Given the description of an element on the screen output the (x, y) to click on. 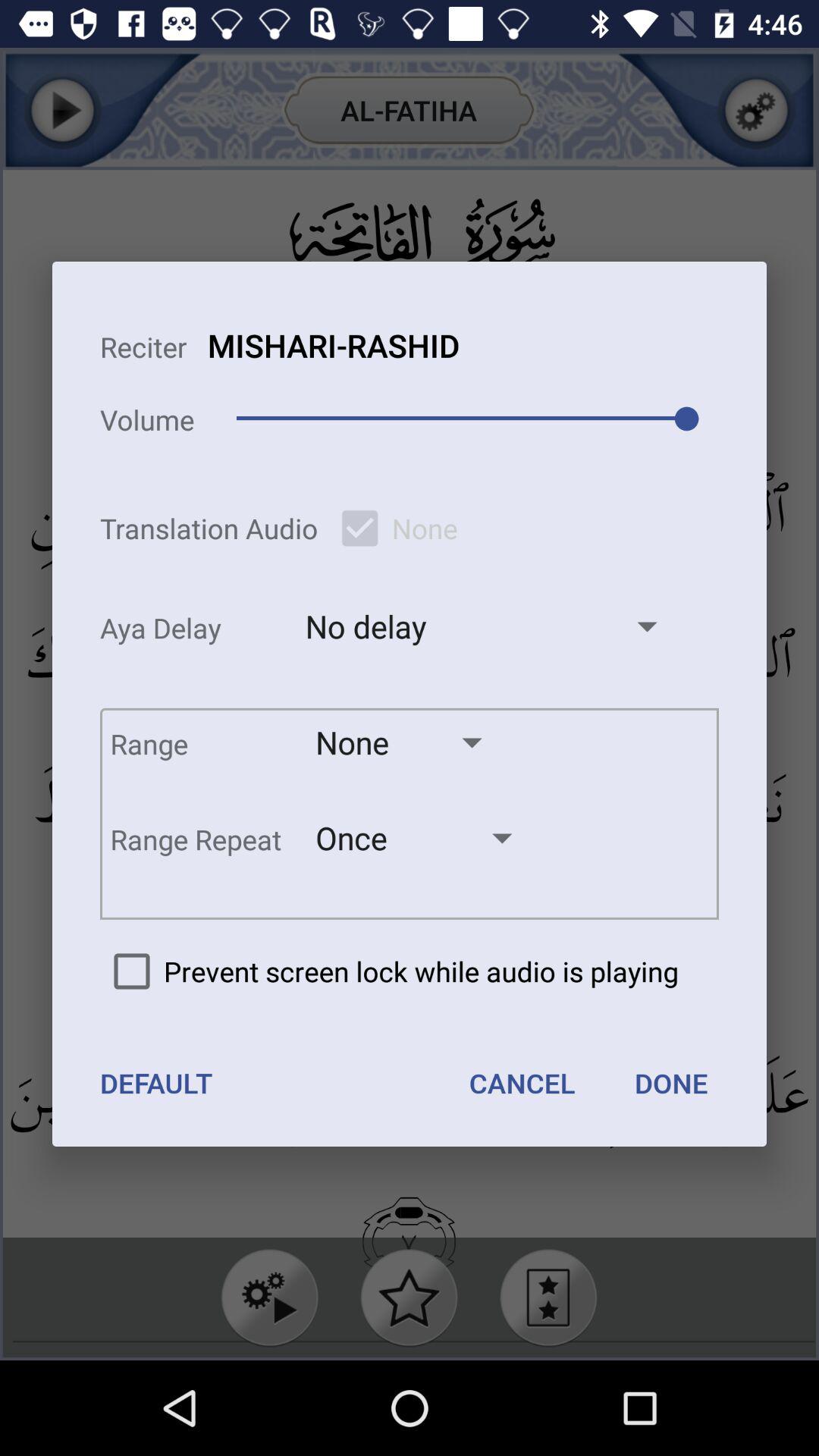
tap the icon above the default item (389, 971)
